Given the description of an element on the screen output the (x, y) to click on. 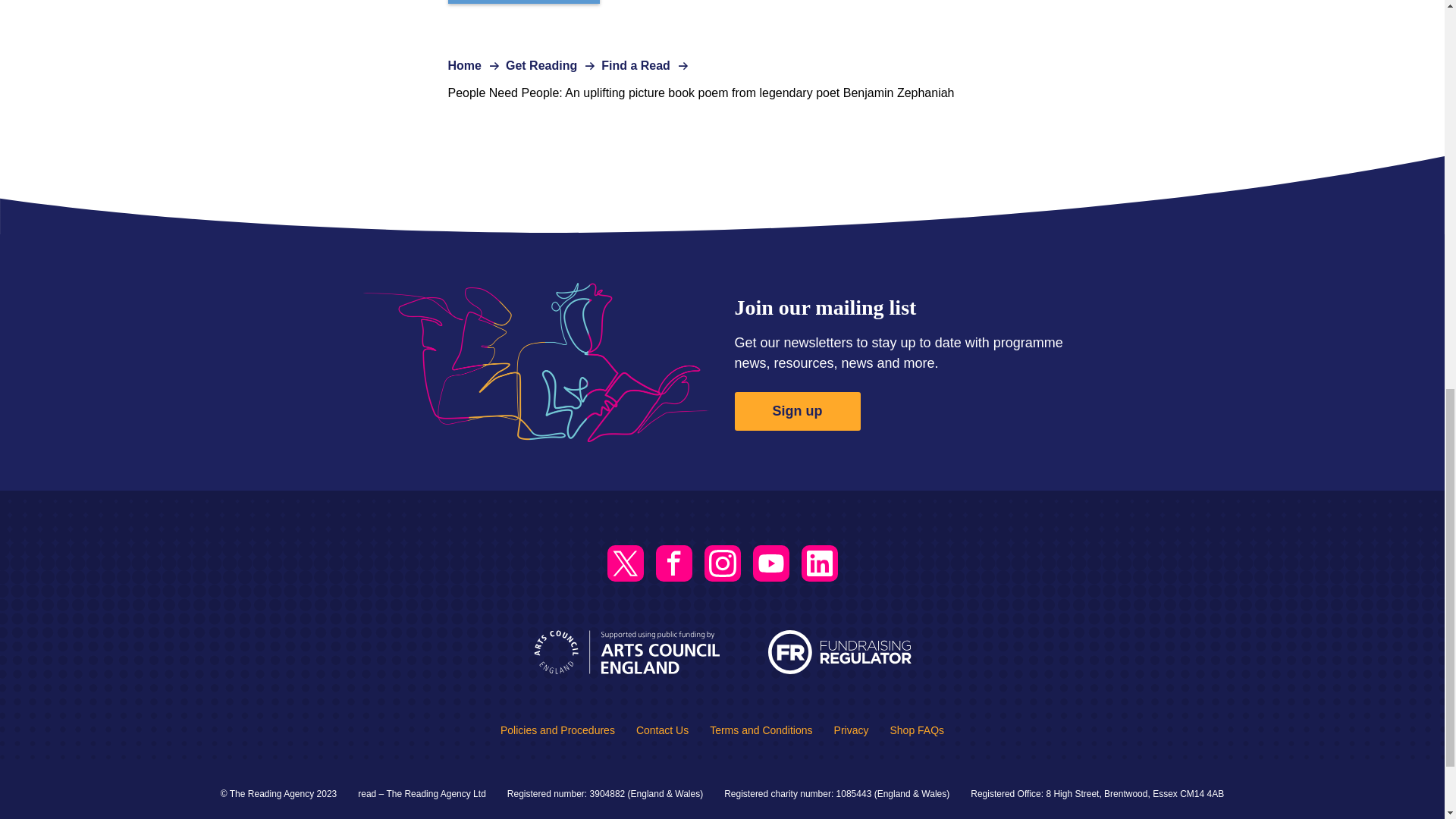
Get Reading (540, 65)
Contact Us (662, 729)
Shop FAQs (916, 729)
Twitter (625, 563)
Terms and Conditions (761, 729)
Sign up (796, 411)
Home (463, 65)
Find a Read (635, 65)
Privacy (851, 729)
Facebook (673, 563)
